Given the description of an element on the screen output the (x, y) to click on. 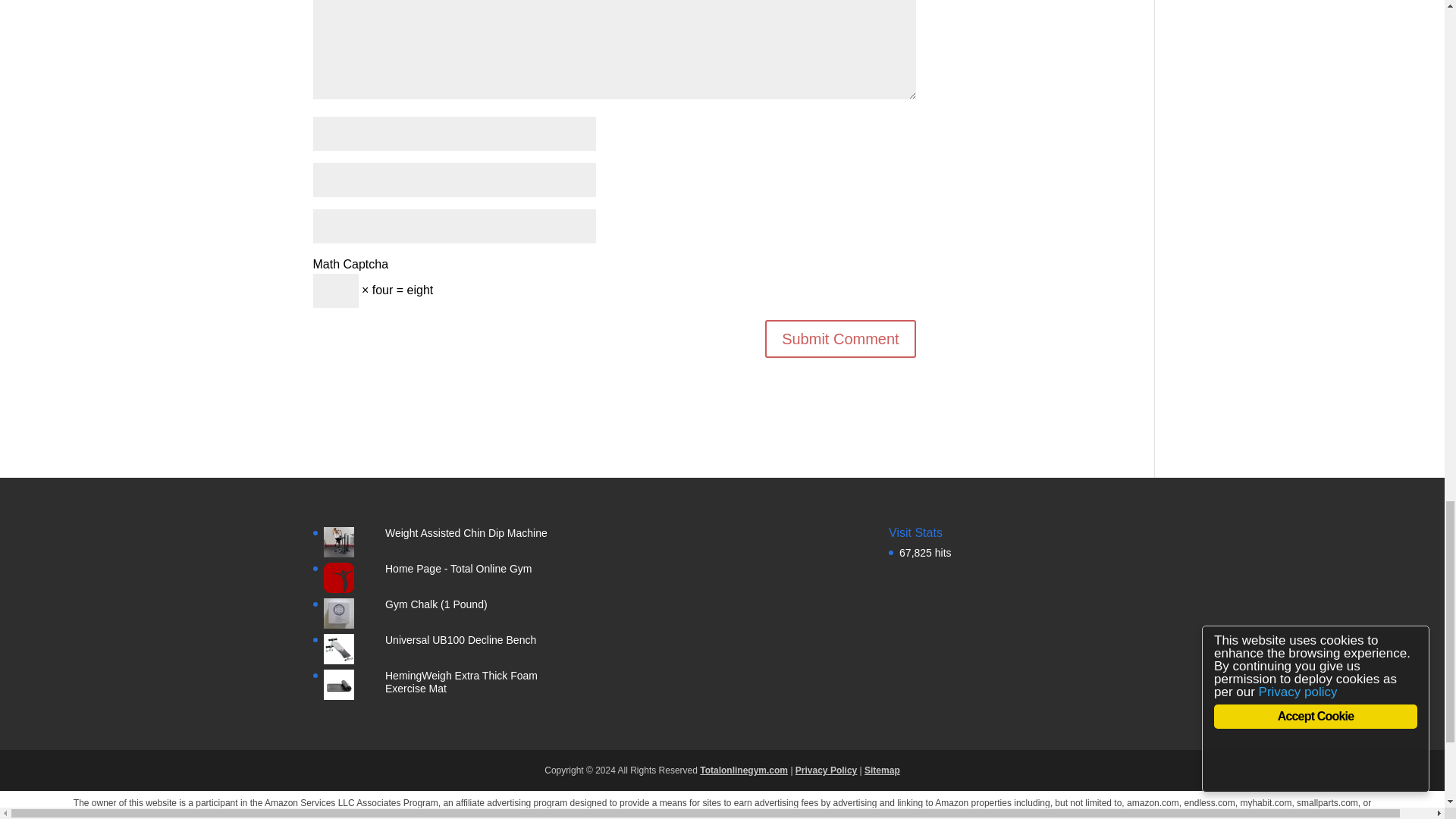
Home Page - Total Online Gym (458, 568)
Submit Comment (840, 338)
Weight Assisted Chin Dip Machine (466, 532)
